Given the description of an element on the screen output the (x, y) to click on. 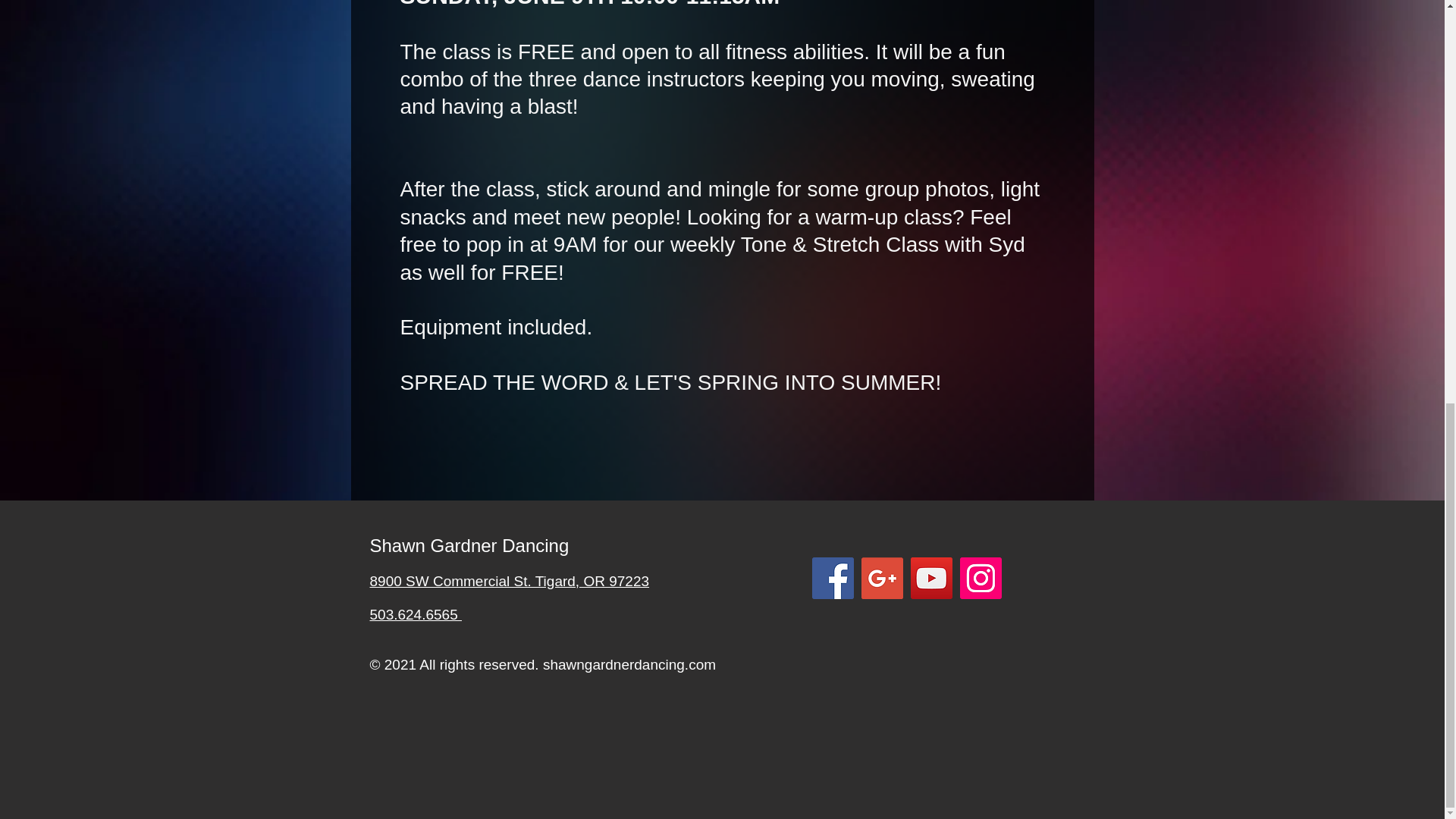
8900 SW Commercial St. Tigard, OR 97223 (509, 580)
503.624.6565  (416, 614)
